Given the description of an element on the screen output the (x, y) to click on. 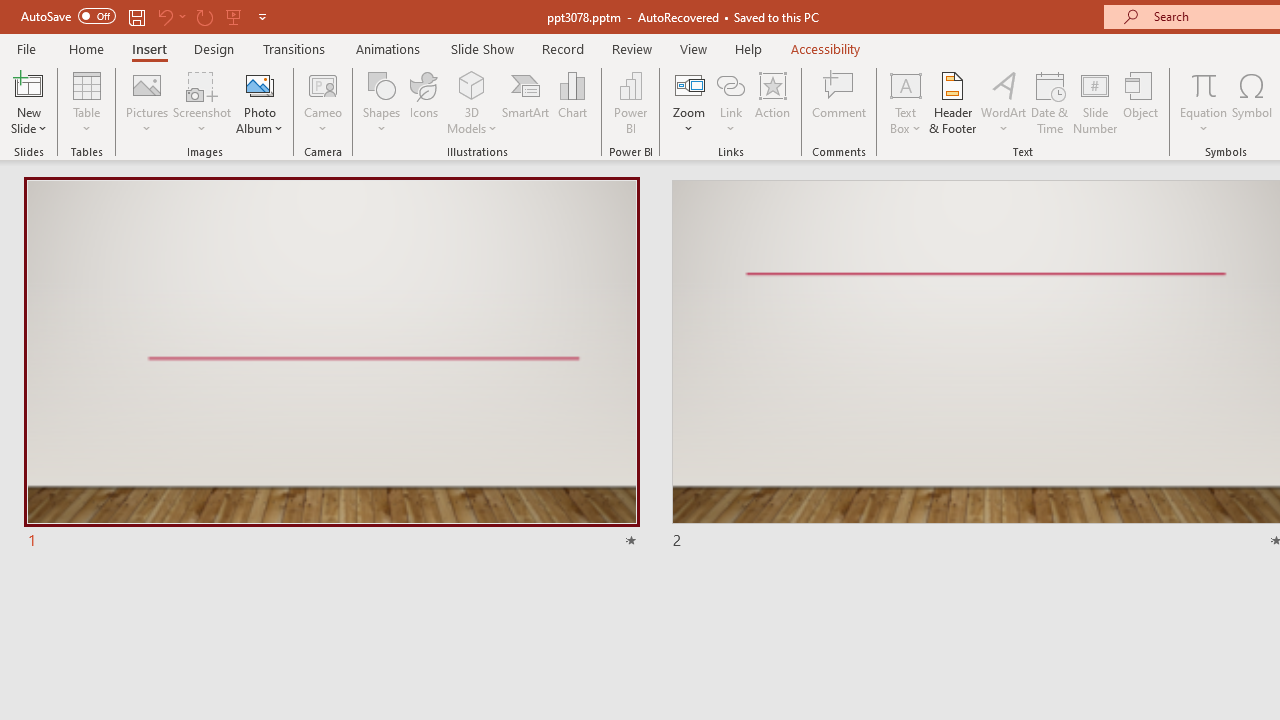
New Photo Album... (259, 84)
Comment (839, 102)
Equation (1203, 102)
3D Models (472, 102)
Symbol... (1252, 102)
Power BI (630, 102)
3D Models (472, 84)
Equation (1203, 84)
